Given the description of an element on the screen output the (x, y) to click on. 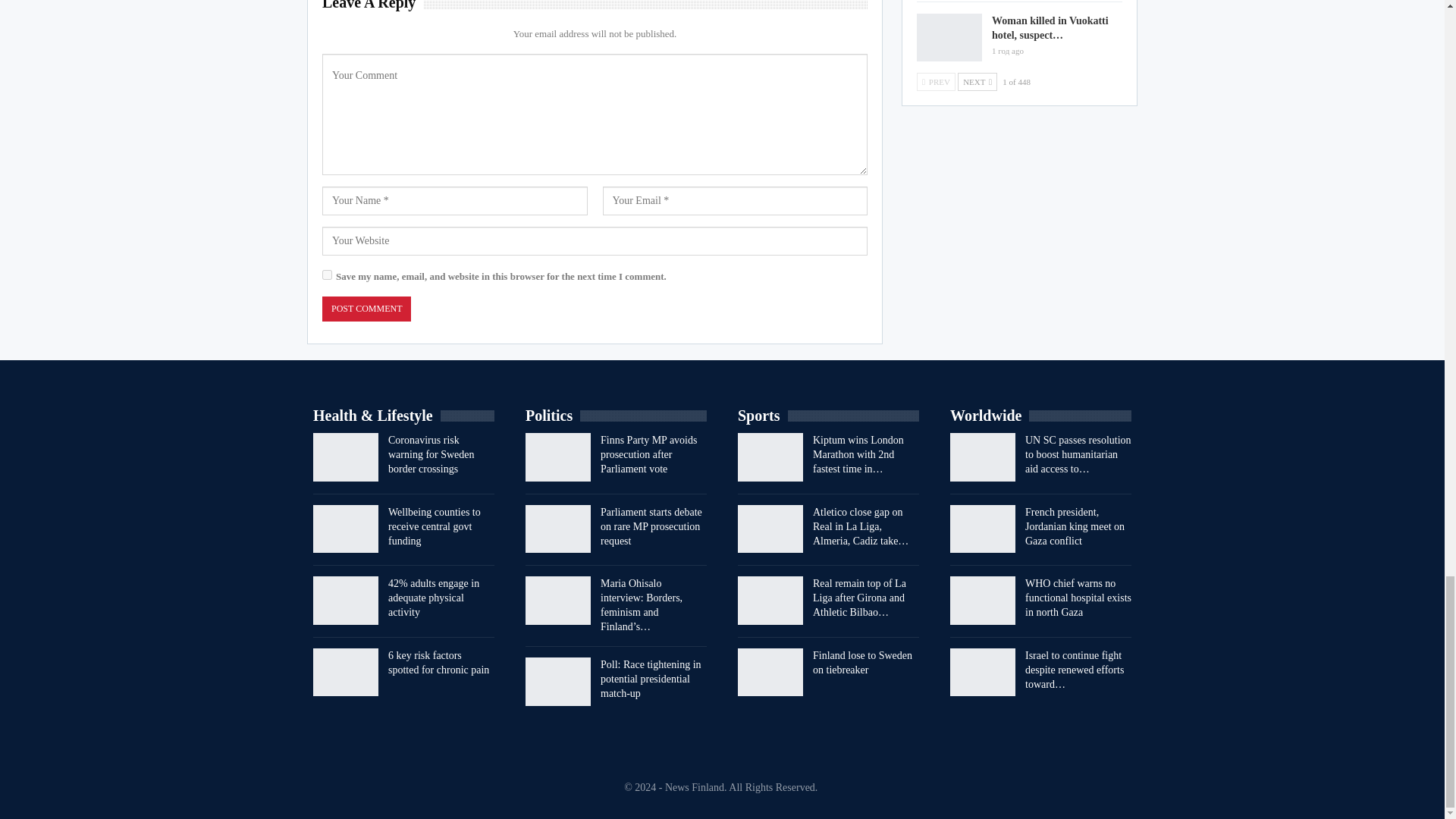
Post Comment (365, 308)
yes (326, 275)
